Given the description of an element on the screen output the (x, y) to click on. 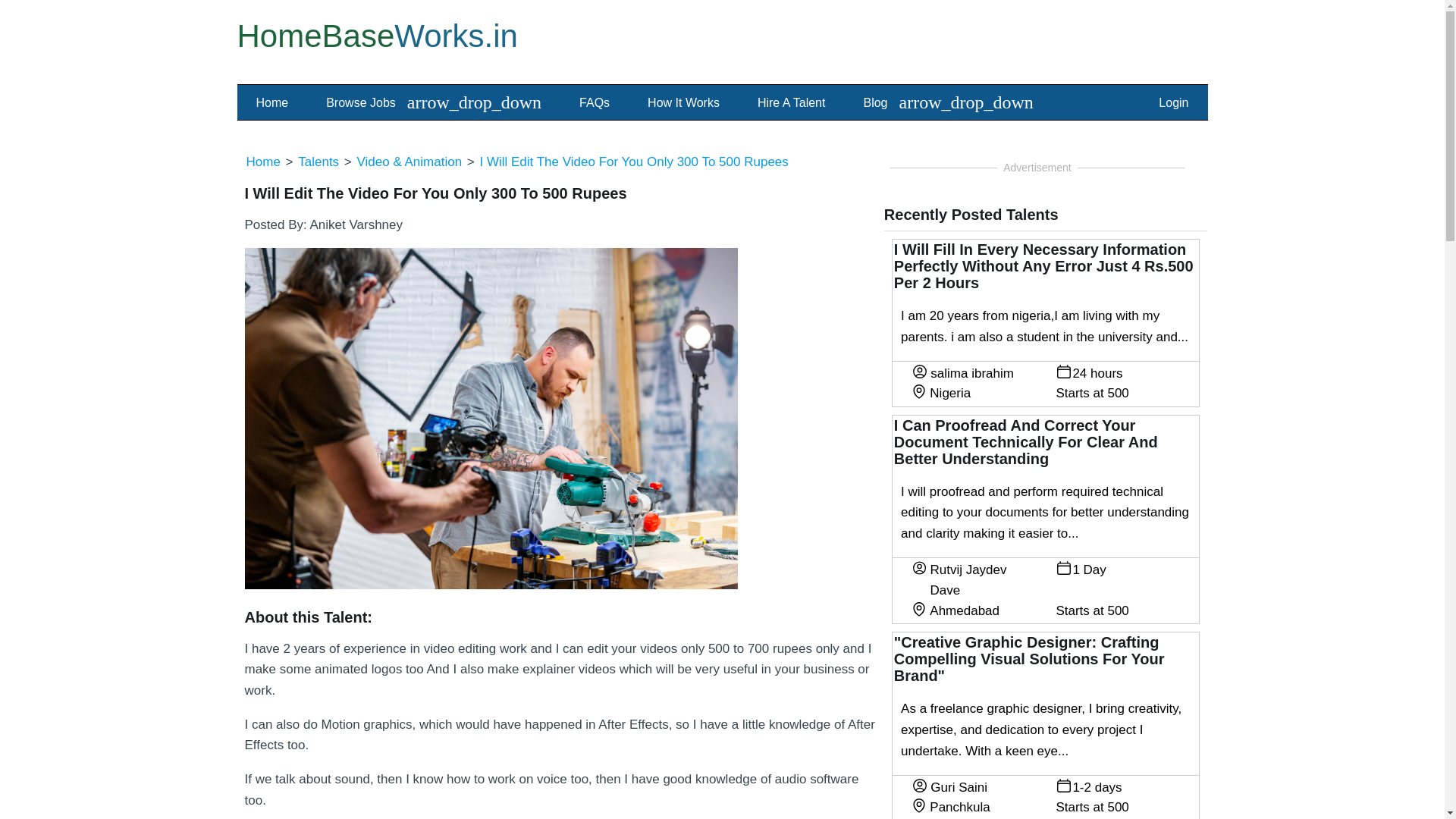
FAQs (594, 103)
Home (272, 103)
Hire A Talent (790, 103)
HomeBaseWorks.in (375, 36)
Login (1173, 103)
How It Works (683, 103)
